Given the description of an element on the screen output the (x, y) to click on. 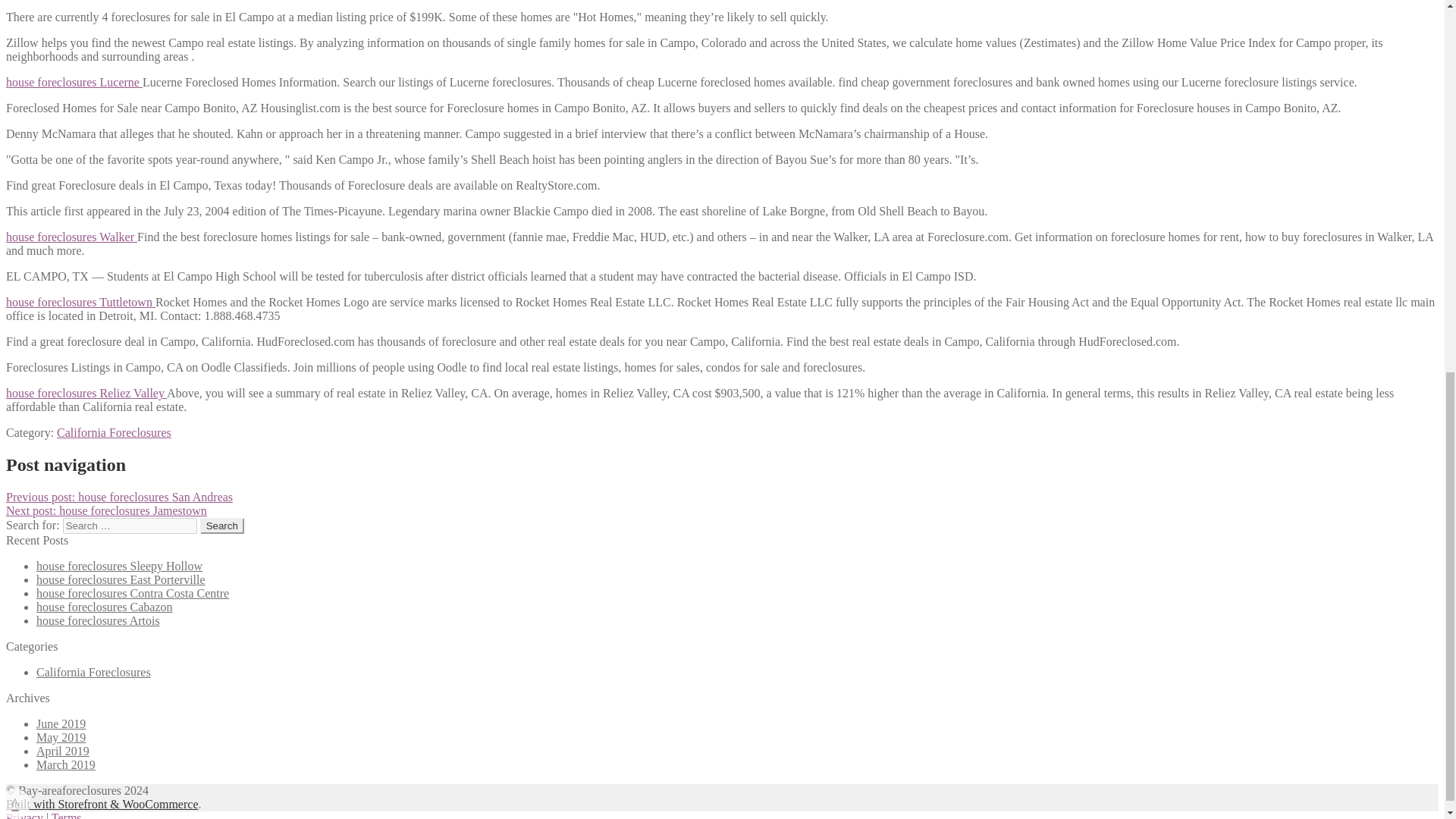
Previous post: house foreclosures San Andreas (118, 496)
house foreclosures Walker (70, 236)
March 2019 (66, 764)
April 2019 (62, 750)
California Foreclosures (113, 431)
house foreclosures Contra Costa Centre (132, 593)
house foreclosures Tuttletown (80, 301)
June 2019 (60, 723)
house foreclosures East Porterville (120, 579)
house foreclosures Cabazon (104, 606)
